Given the description of an element on the screen output the (x, y) to click on. 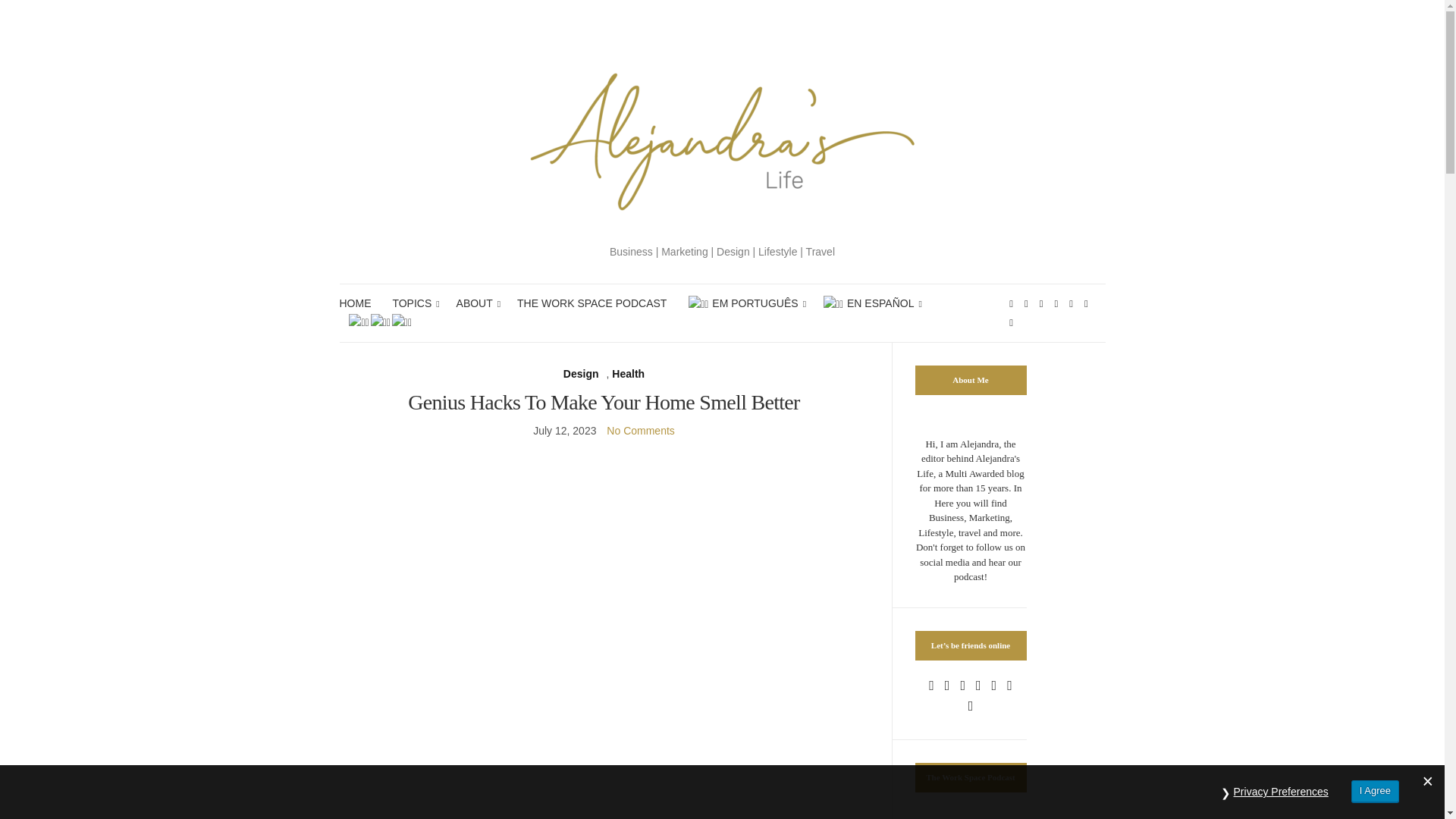
ABOUT (476, 303)
HOME (355, 303)
Design (580, 374)
Health (628, 374)
THE WORK SPACE PODCAST (591, 303)
TOPICS (412, 303)
No Comments (640, 430)
